Given the description of an element on the screen output the (x, y) to click on. 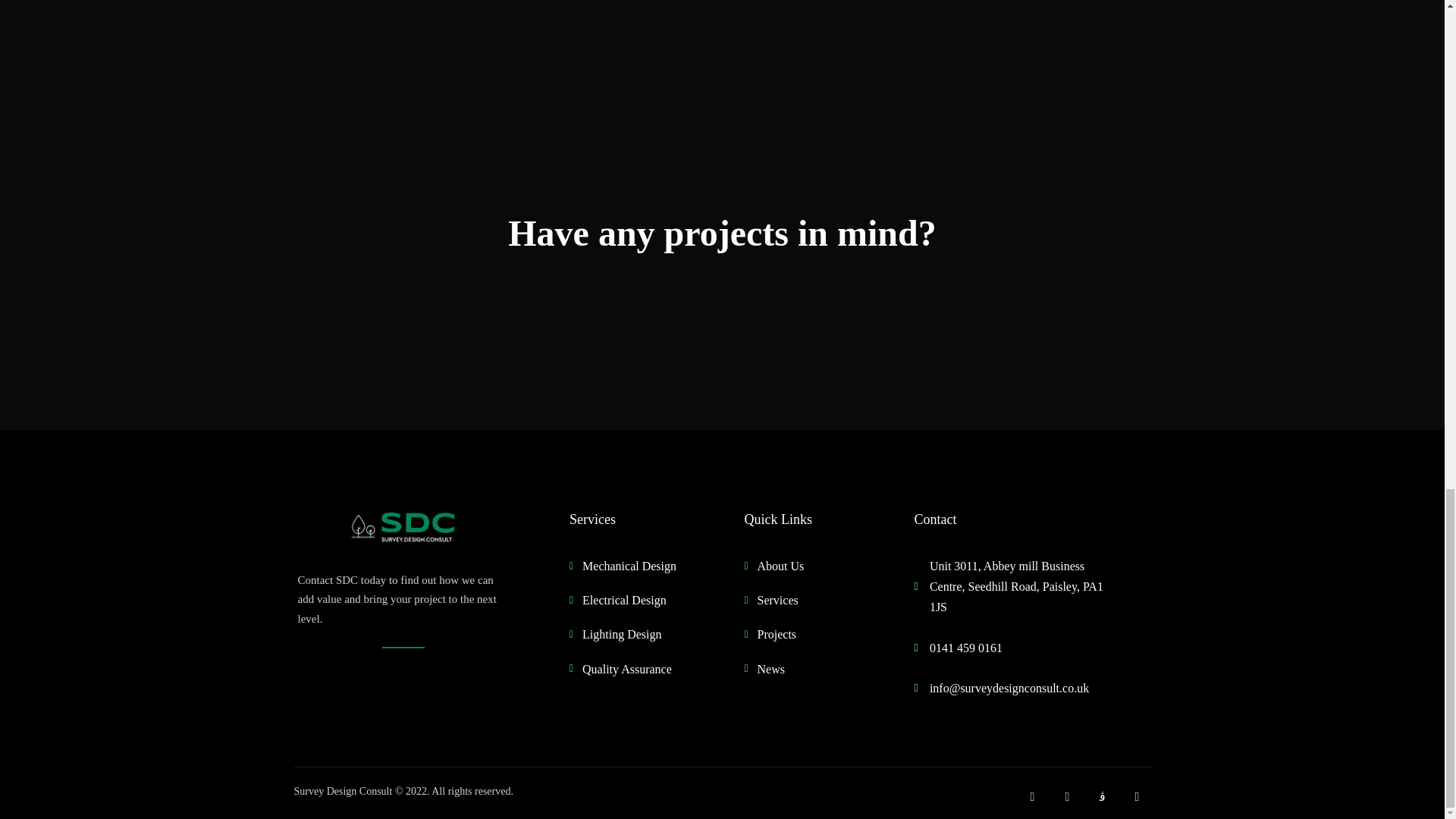
0141 459 0161 (1015, 648)
Services (805, 599)
Mechanical Design (649, 566)
Lighting Design (649, 634)
About Us (805, 566)
Quality Assurance (649, 669)
News (805, 669)
Projects (805, 634)
Electrical Design (649, 599)
